Given the description of an element on the screen output the (x, y) to click on. 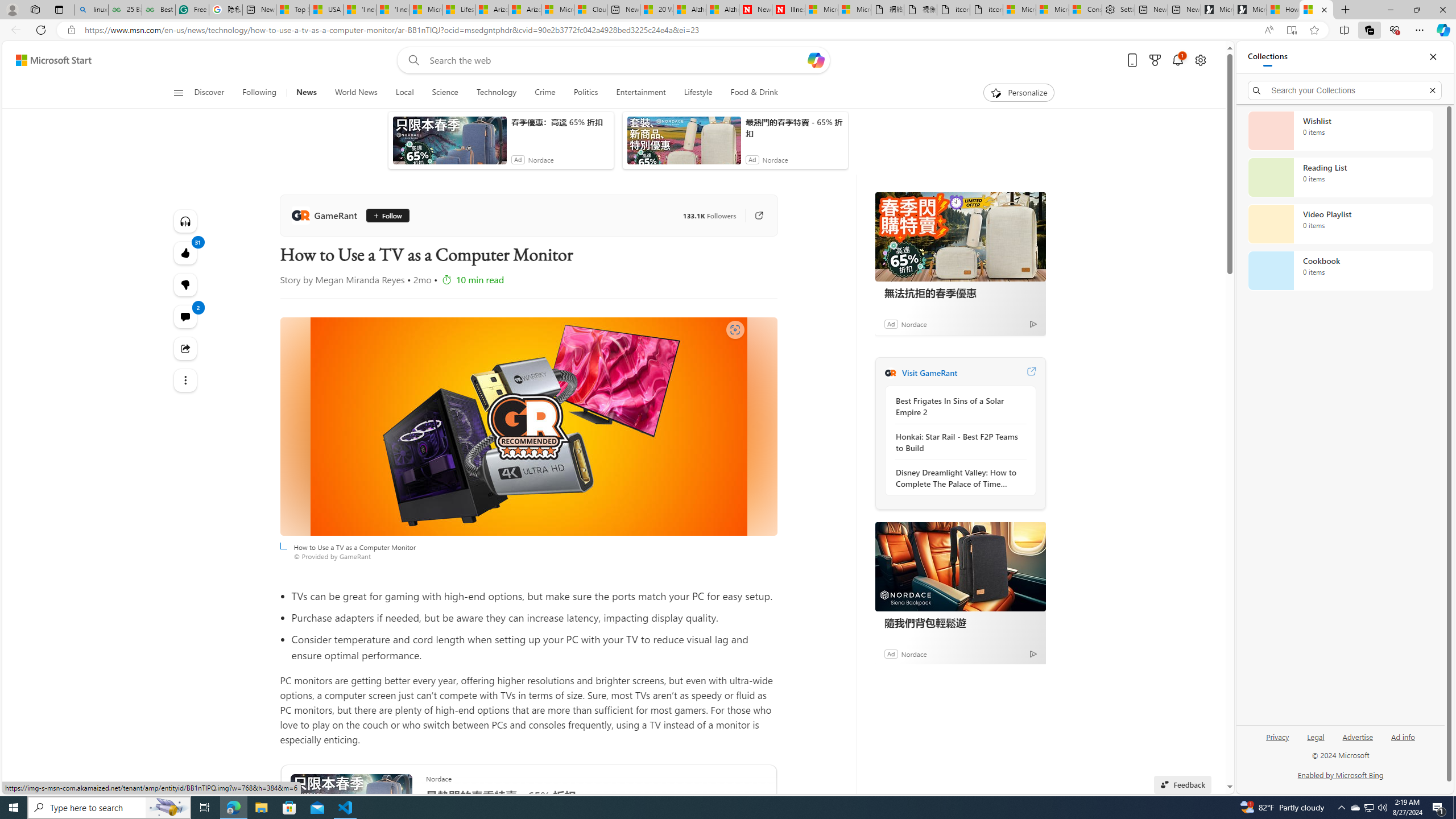
Politics (585, 92)
Skip to footer (46, 59)
News (306, 92)
Listen to this article (184, 220)
Technology (496, 92)
Science (444, 92)
App bar (728, 29)
Visit GameRant website (1031, 372)
Ad (890, 653)
linux basic - Search (91, 9)
Go to publisher's site (752, 215)
